Given the description of an element on the screen output the (x, y) to click on. 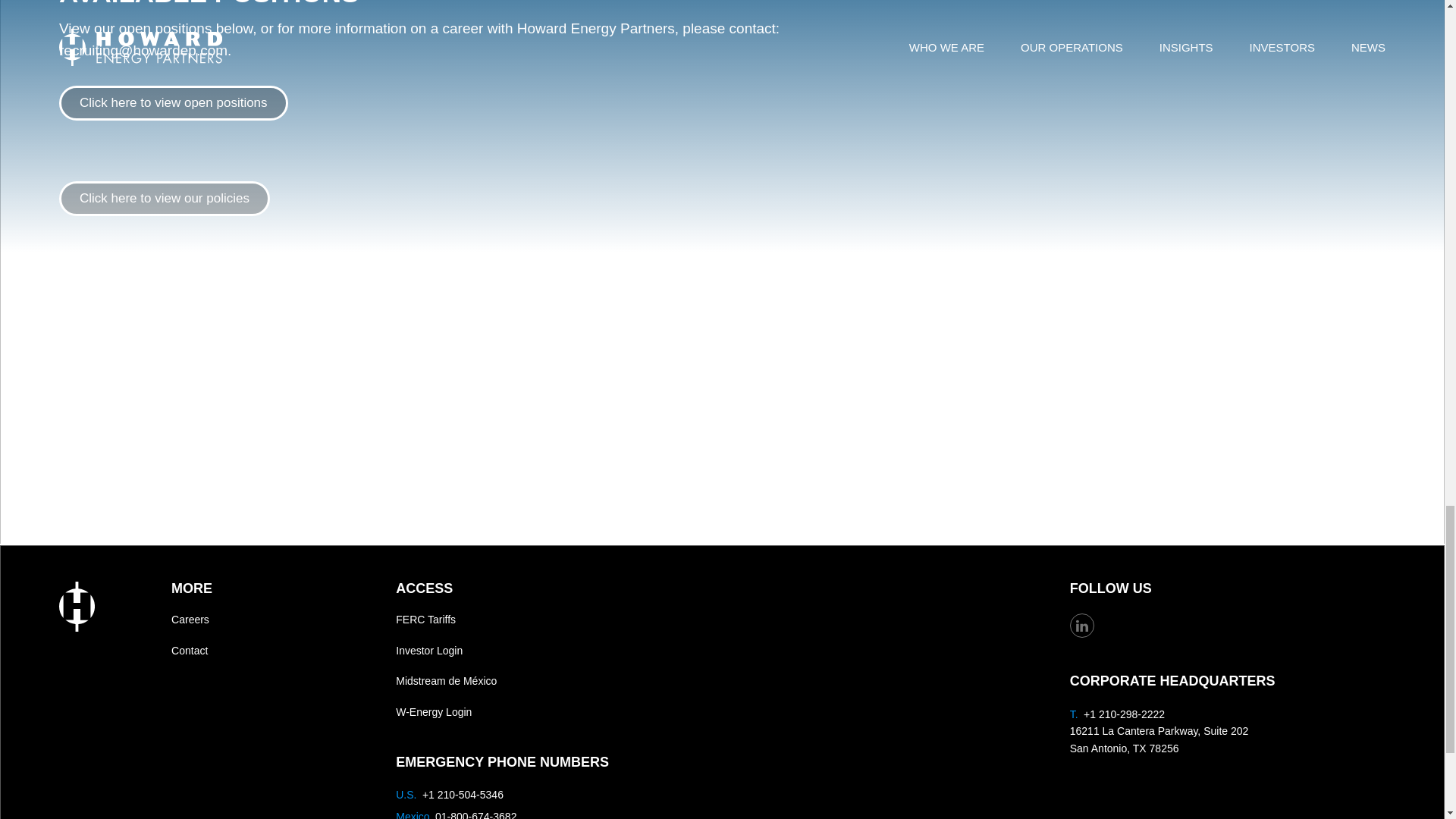
Click here to view our policies (164, 198)
FERC Tariffs (553, 619)
01-800-674-3682 (475, 814)
Investor Login (553, 650)
W-Energy Login (553, 712)
Careers (272, 619)
Click here to view open positions (173, 102)
Contact (272, 650)
